Given the description of an element on the screen output the (x, y) to click on. 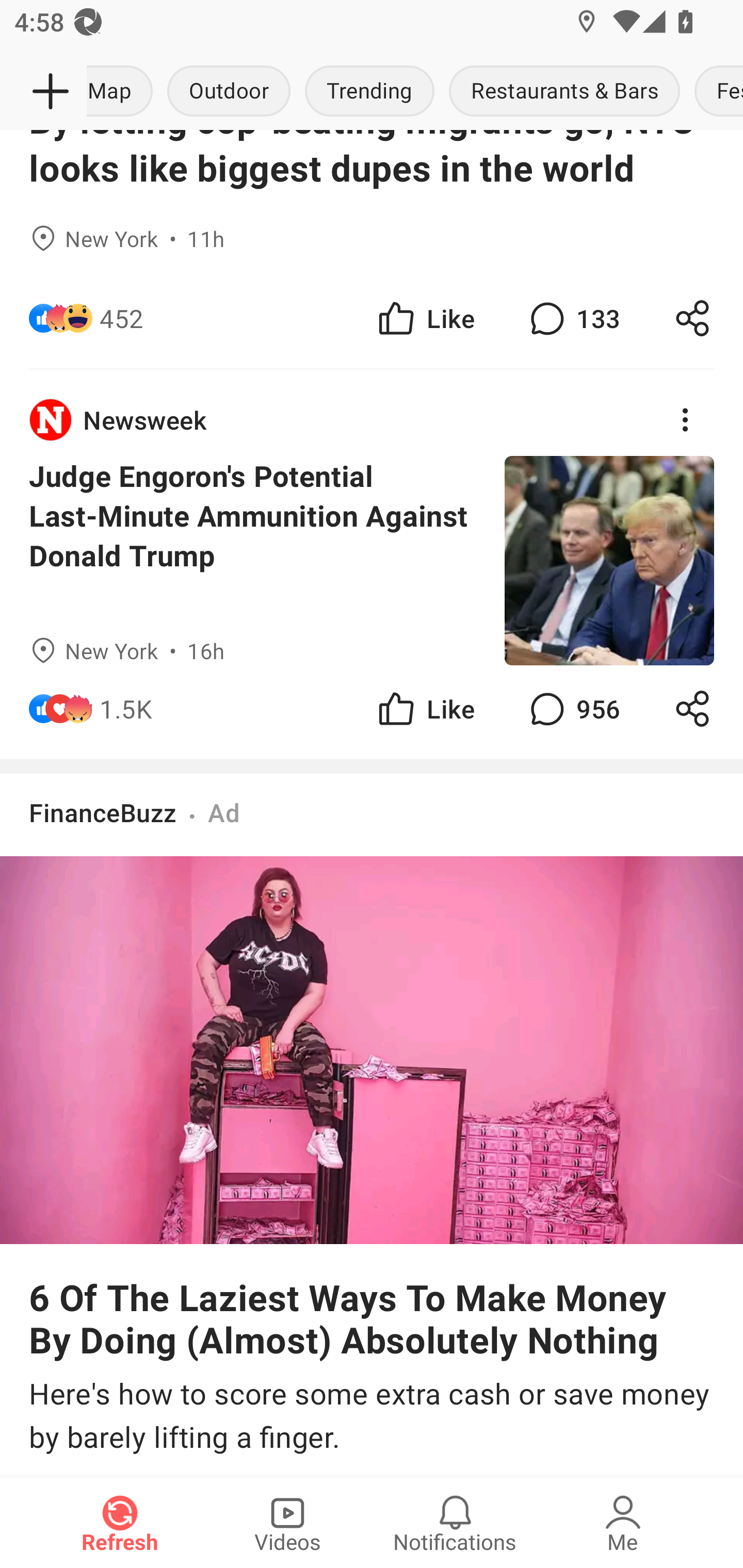
Crime Map (122, 91)
Outdoor (228, 91)
Trending (369, 91)
Restaurants & Bars (564, 91)
452 (121, 318)
Like (425, 318)
133 (572, 318)
1.5K (125, 708)
Like (425, 708)
956 (572, 708)
FinanceBuzz (102, 811)
Videos (287, 1522)
Notifications (455, 1522)
Me (622, 1522)
